Given the description of an element on the screen output the (x, y) to click on. 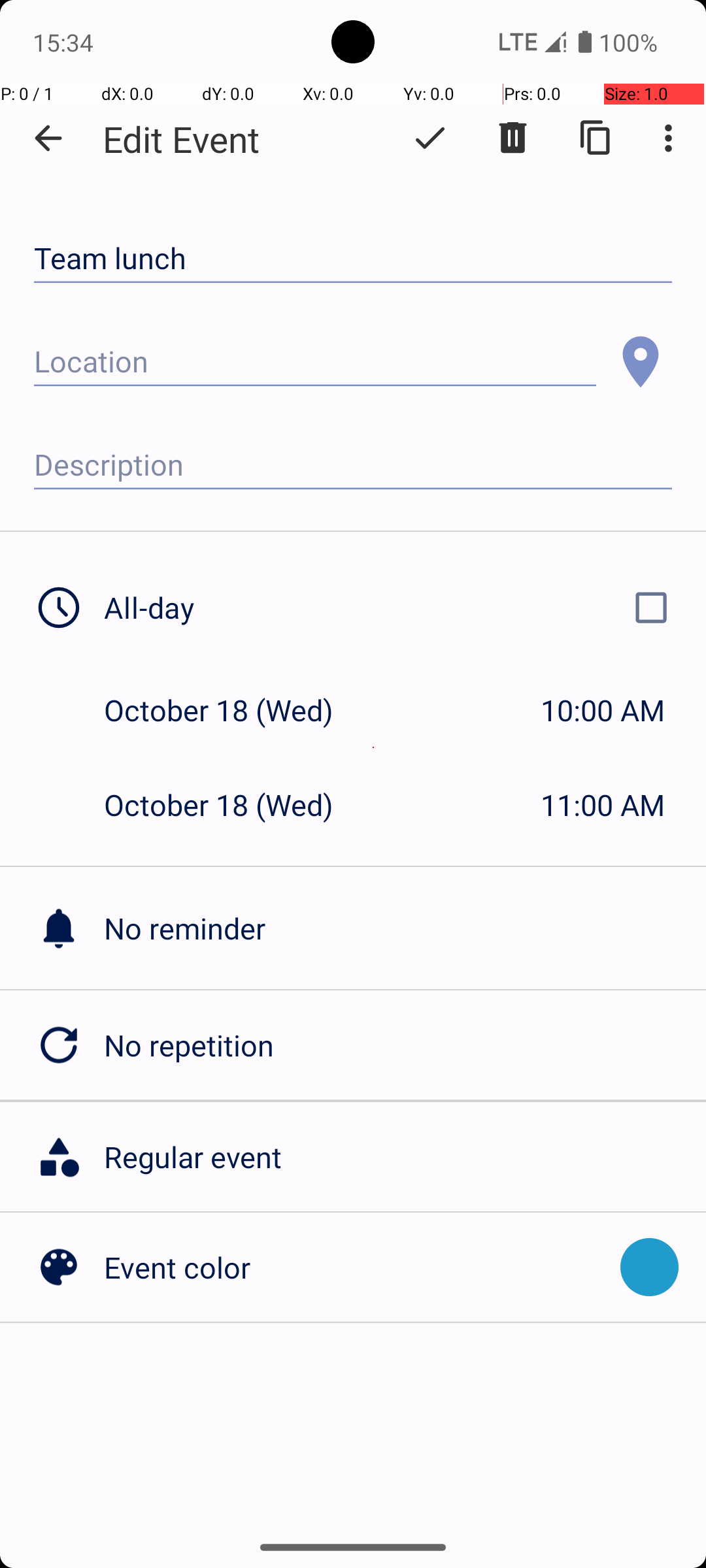
Team lunch Element type: android.widget.EditText (352, 258)
October 18 (Wed) Element type: android.widget.TextView (232, 709)
10:00 AM Element type: android.widget.TextView (602, 709)
11:00 AM Element type: android.widget.TextView (602, 804)
